Given the description of an element on the screen output the (x, y) to click on. 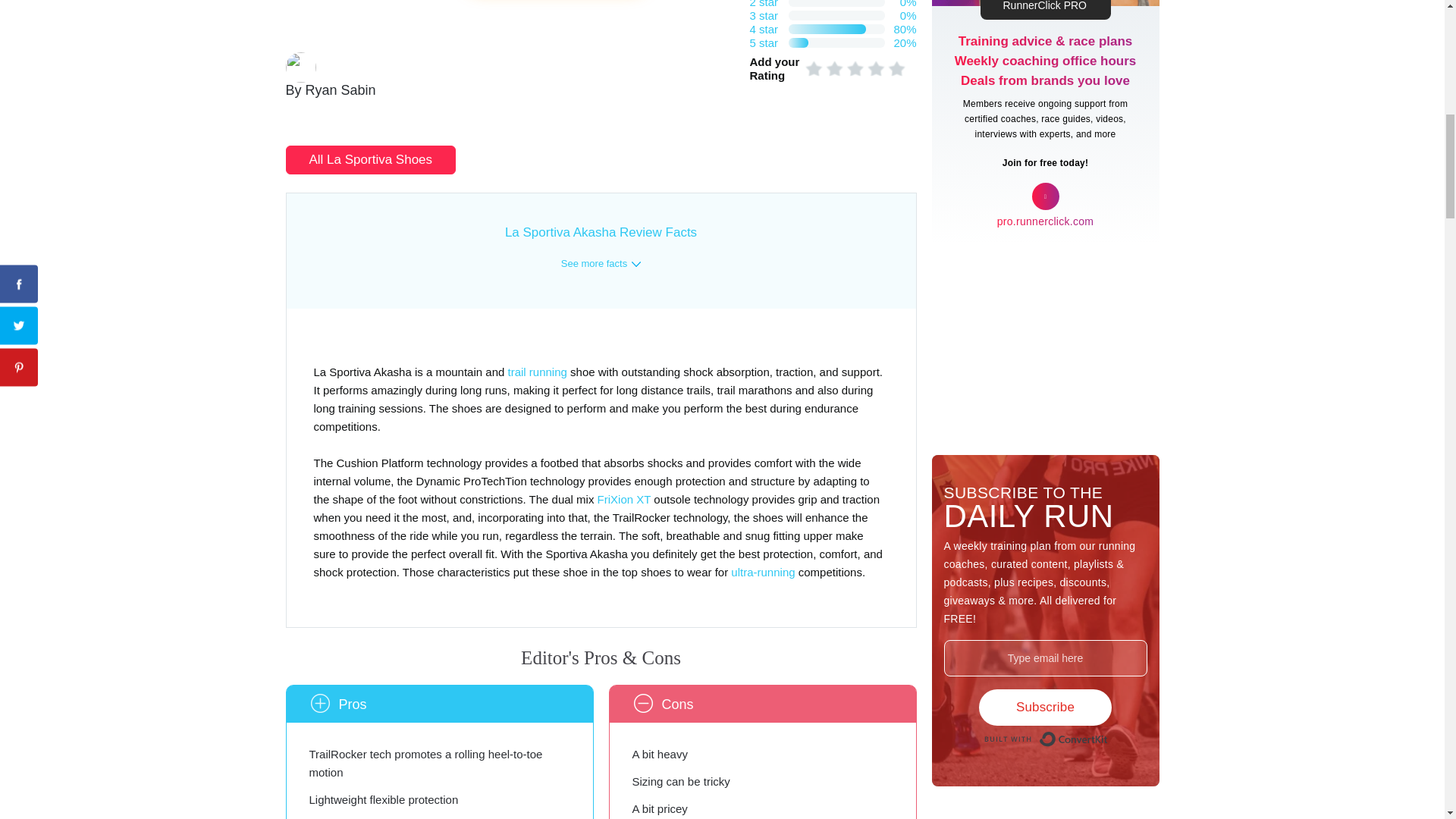
trail running (537, 371)
FriXion XT (623, 499)
Ryan Sabin (340, 90)
See more facts (600, 263)
